Given the description of an element on the screen output the (x, y) to click on. 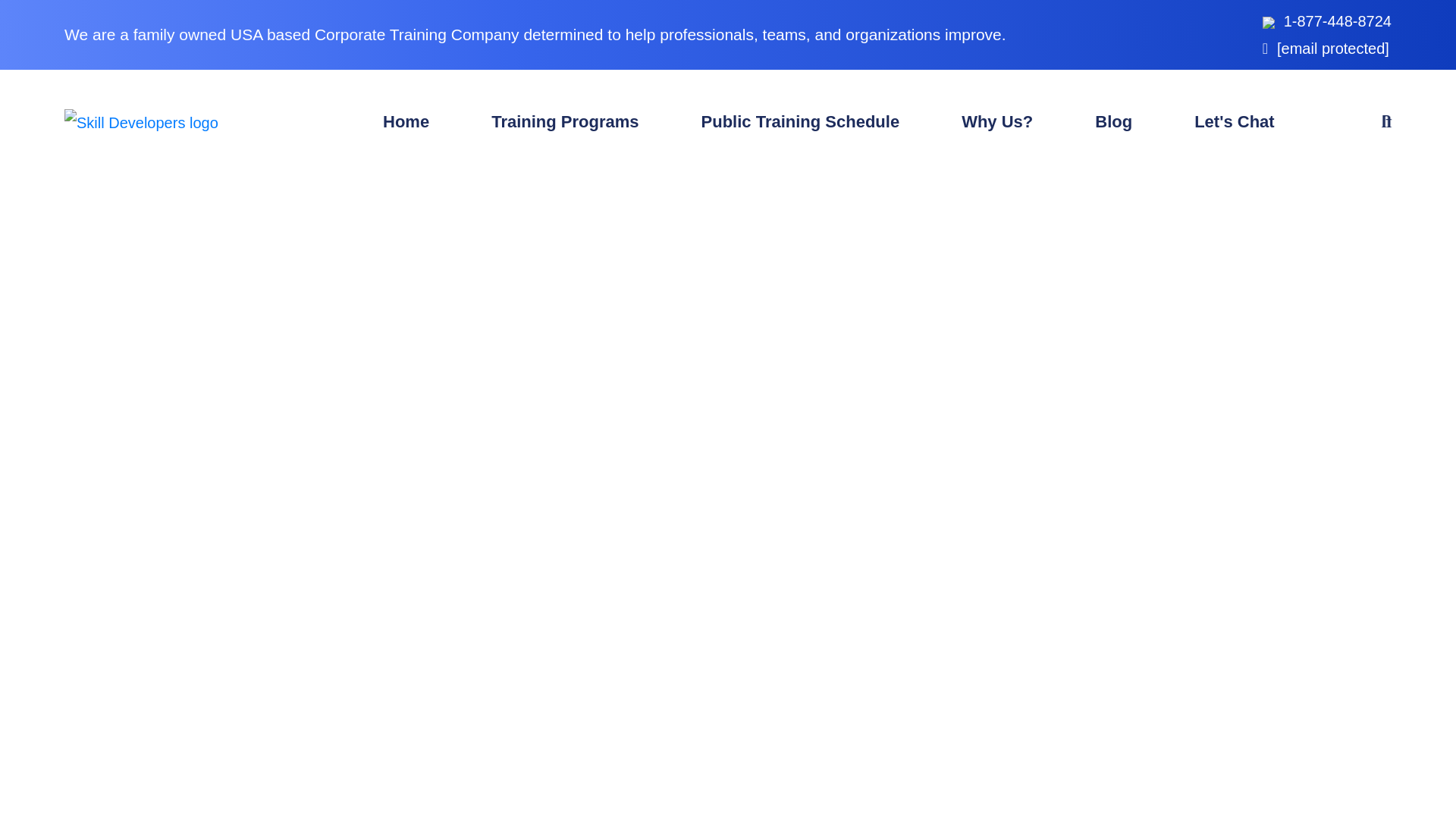
1-877-448-8724 (1337, 21)
Home (406, 121)
Training Programs (564, 121)
Public Training Schedule (800, 121)
